Given the description of an element on the screen output the (x, y) to click on. 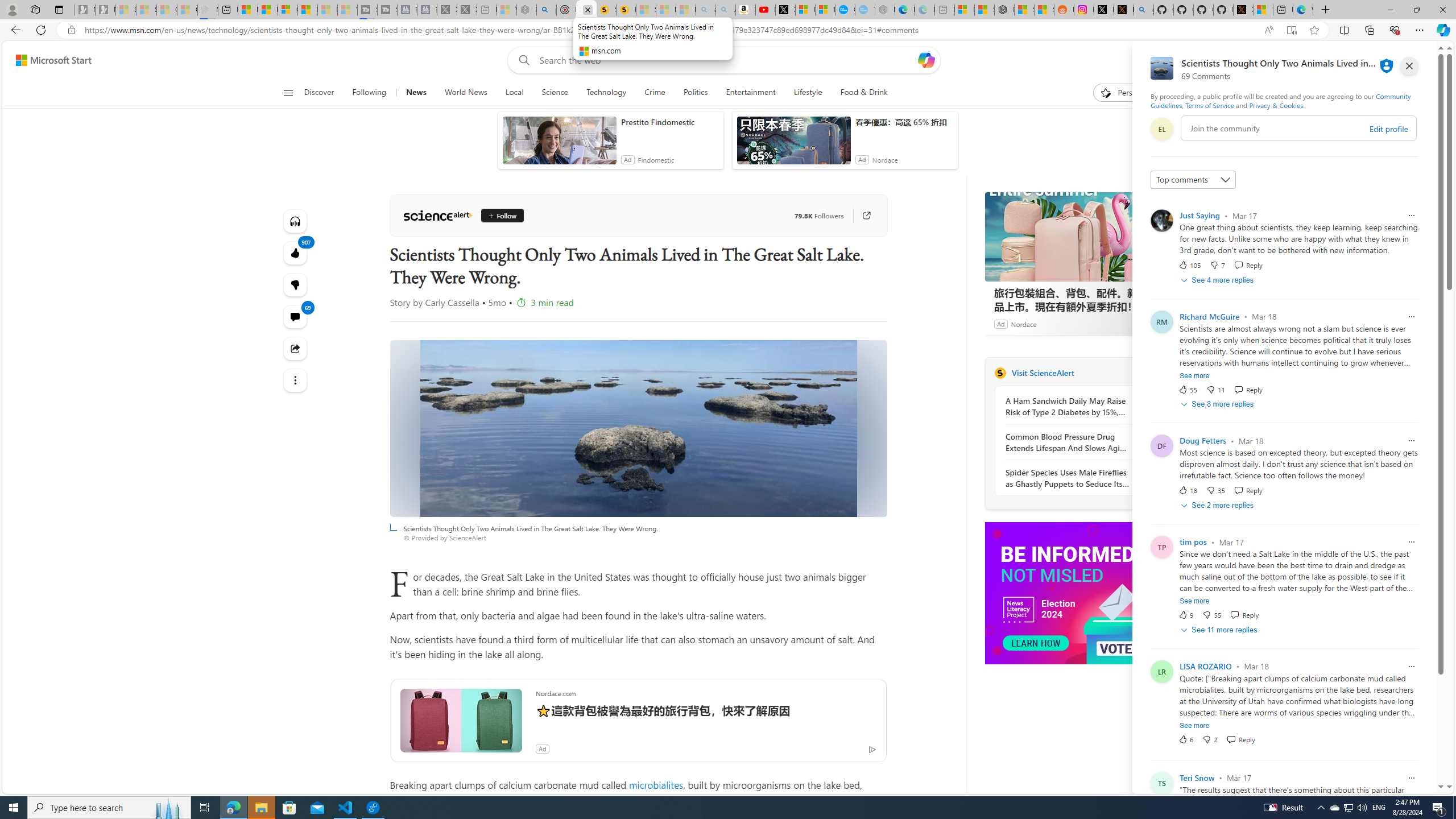
Skip to content (49, 59)
New tab - Sleeping (944, 9)
tim pos (1193, 541)
Teri Snow (1196, 777)
X - Sleeping (466, 9)
Microsoft account | Microsoft Account Privacy Settings (964, 9)
Feedback (1402, 784)
Sort comments by (1193, 179)
Entertainment (750, 92)
